Given the description of an element on the screen output the (x, y) to click on. 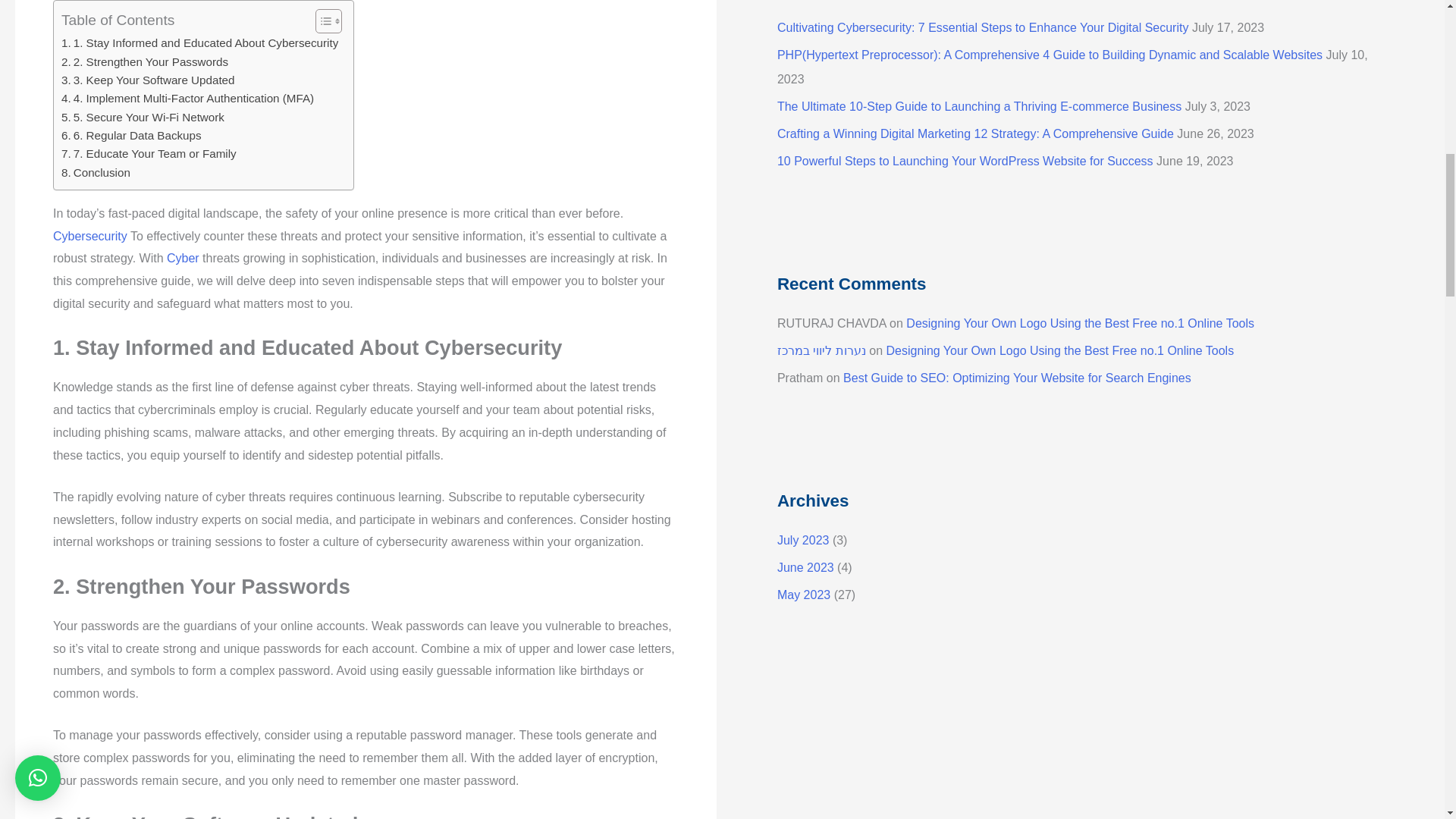
2. Strengthen Your Passwords (144, 62)
Conclusion (96, 172)
1. Stay Informed and Educated About Cybersecurity (199, 43)
3. Keep Your Software Updated (147, 80)
6. Regular Data Backups (131, 135)
7. Educate Your Team or Family (148, 153)
5. Secure Your Wi-Fi Network (142, 117)
